Given the description of an element on the screen output the (x, y) to click on. 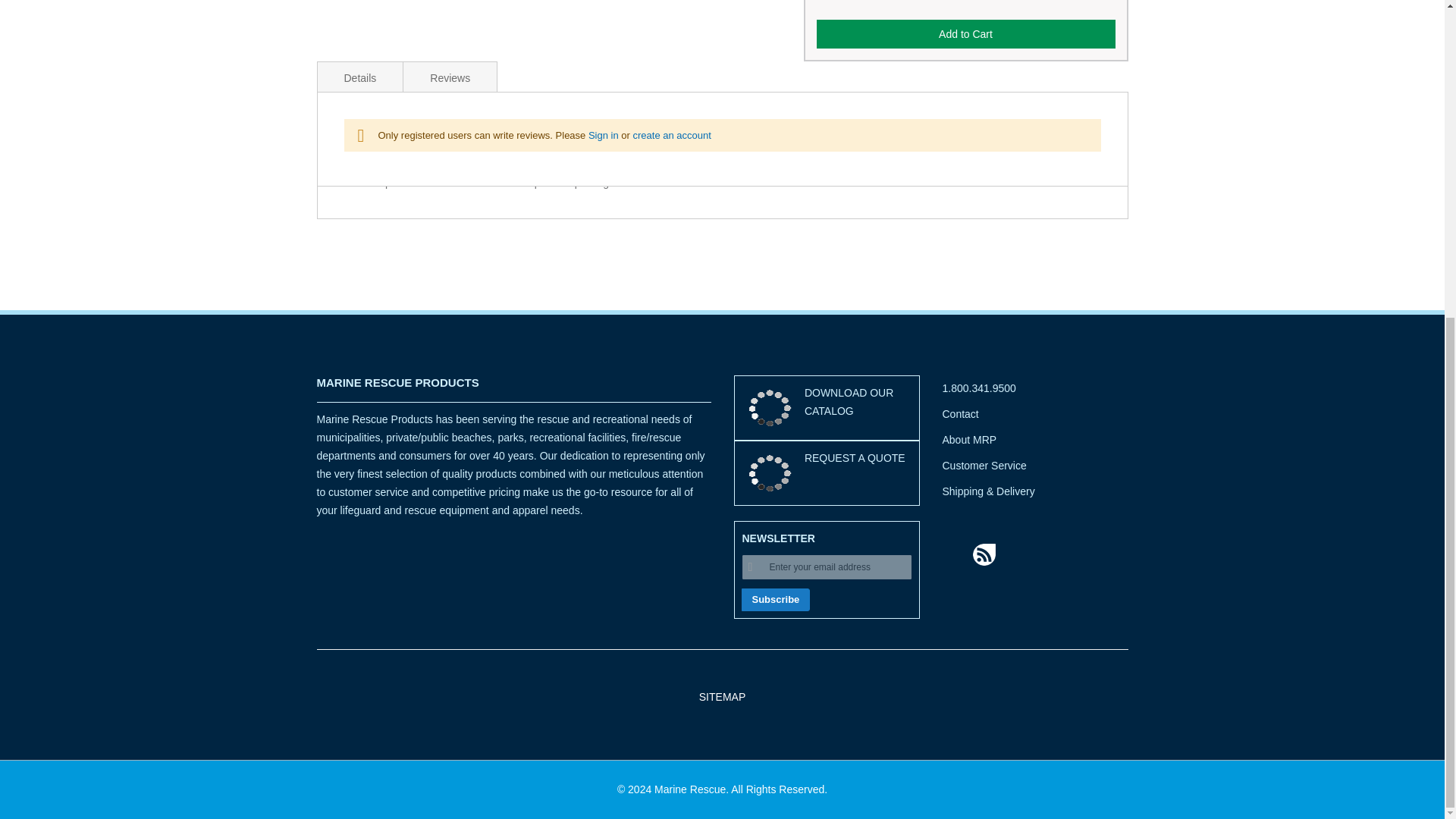
Subscribe (775, 599)
Add to Cart (965, 33)
